Given the description of an element on the screen output the (x, y) to click on. 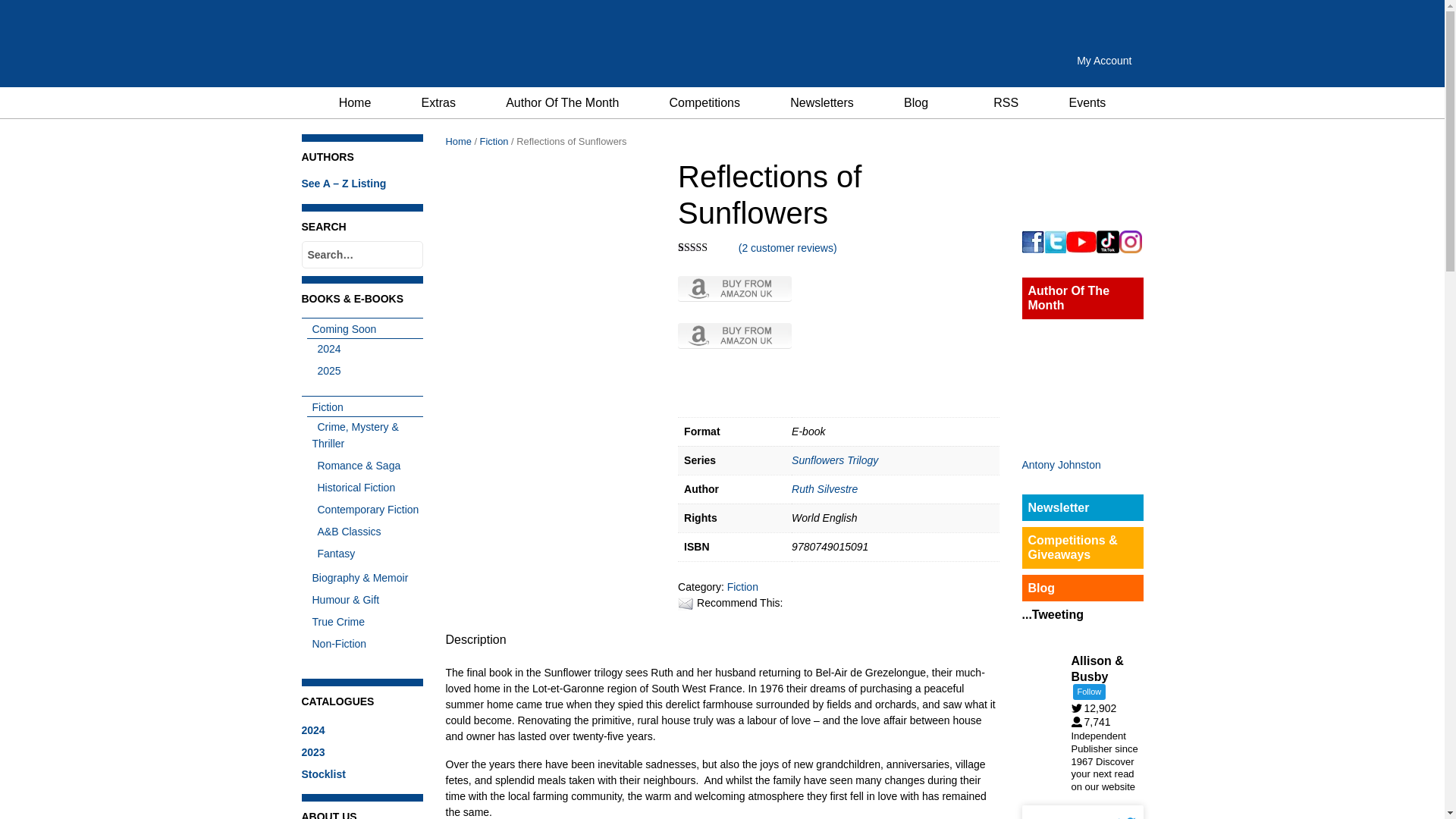
Non-Fiction (335, 644)
Extras (438, 102)
2024 (326, 348)
True Crime (335, 621)
Events (1087, 102)
Coming Soon (340, 328)
Home (355, 102)
Historical Fiction (354, 487)
7,741 Followers (1094, 721)
Competitions (704, 102)
